Given the description of an element on the screen output the (x, y) to click on. 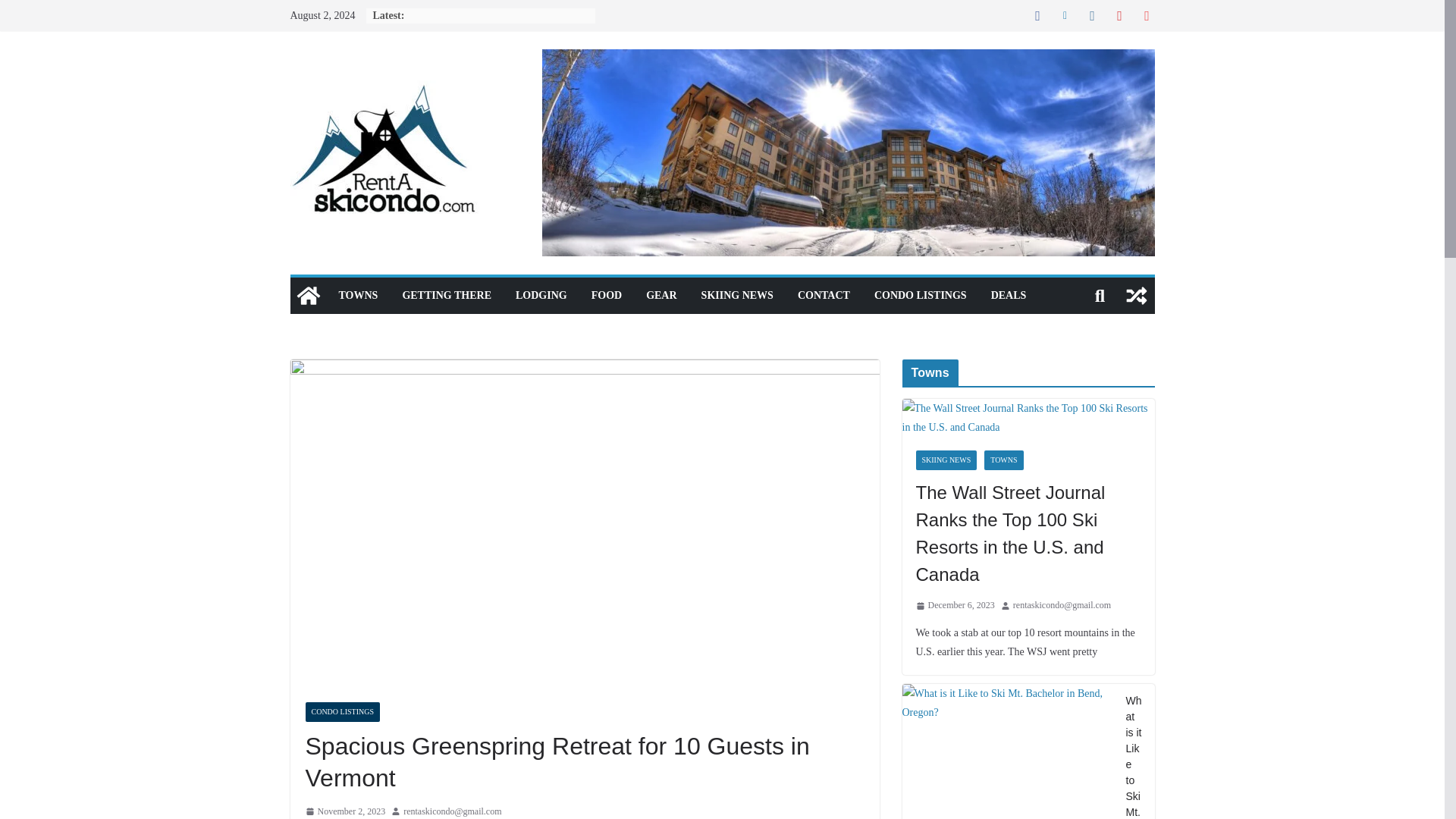
SKIING NEWS (737, 295)
View a random post (1136, 295)
CONDO LISTINGS (920, 295)
GETTING THERE (446, 295)
CONDO LISTINGS (342, 711)
November 2, 2023 (344, 811)
CONTACT (823, 295)
GEAR (661, 295)
DEALS (1008, 295)
Rent a Ski Condo (307, 295)
1:07 pm (344, 811)
FOOD (606, 295)
LODGING (541, 295)
TOWNS (357, 295)
